Given the description of an element on the screen output the (x, y) to click on. 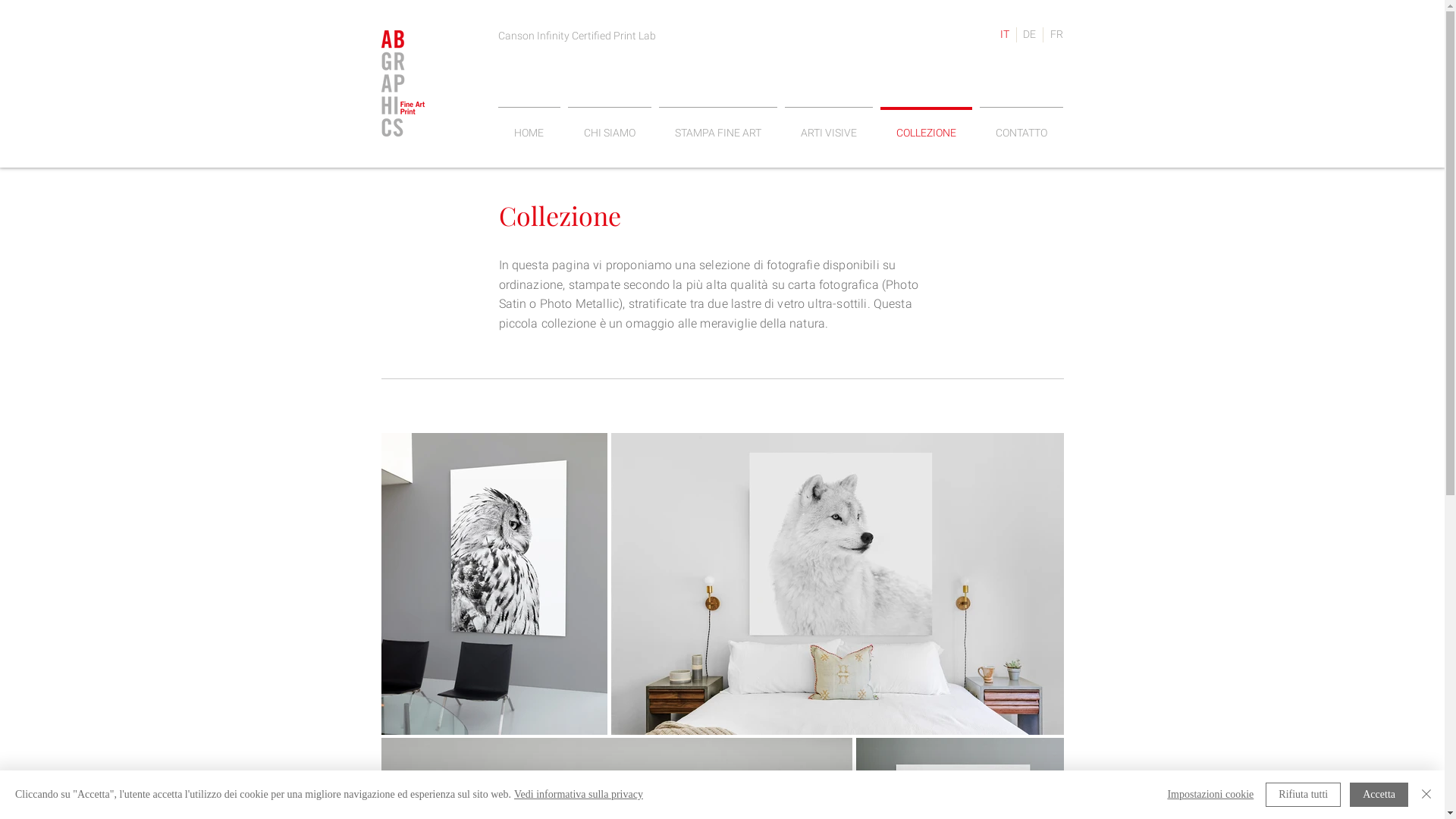
FR Element type: text (1055, 34)
CONTATTO Element type: text (1020, 125)
Abgraphics_2.png Element type: hover (401, 83)
Rifiuta tutti Element type: text (1302, 794)
STAMPA FINE ART Element type: text (718, 125)
Accetta Element type: text (1378, 794)
DE Element type: text (1029, 34)
COLLEZIONE Element type: text (925, 125)
CHI SIAMO Element type: text (609, 125)
Vedi informativa sulla privacy Element type: text (578, 794)
ARTI VISIVE Element type: text (828, 125)
HOME Element type: text (529, 125)
IT Element type: text (1004, 34)
